Given the description of an element on the screen output the (x, y) to click on. 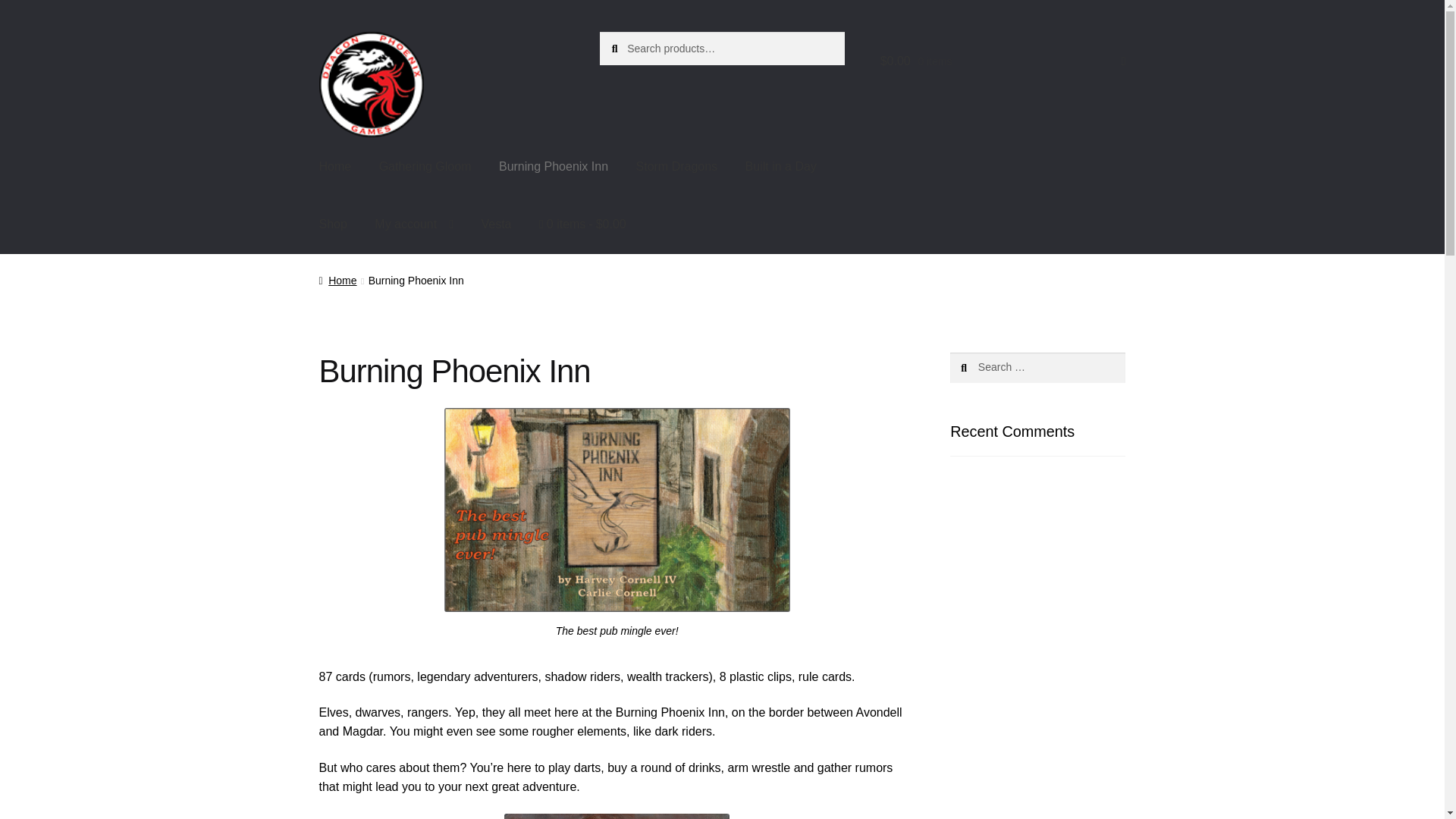
Start shopping (583, 223)
Built in a Day (780, 166)
Storm Dragons (677, 166)
Home (337, 280)
View your shopping cart (1002, 60)
My account (413, 223)
Home (335, 166)
Burning Phoenix Inn (553, 166)
Gathering Gloom (424, 166)
Vesta (495, 223)
Shop (333, 223)
